Given the description of an element on the screen output the (x, y) to click on. 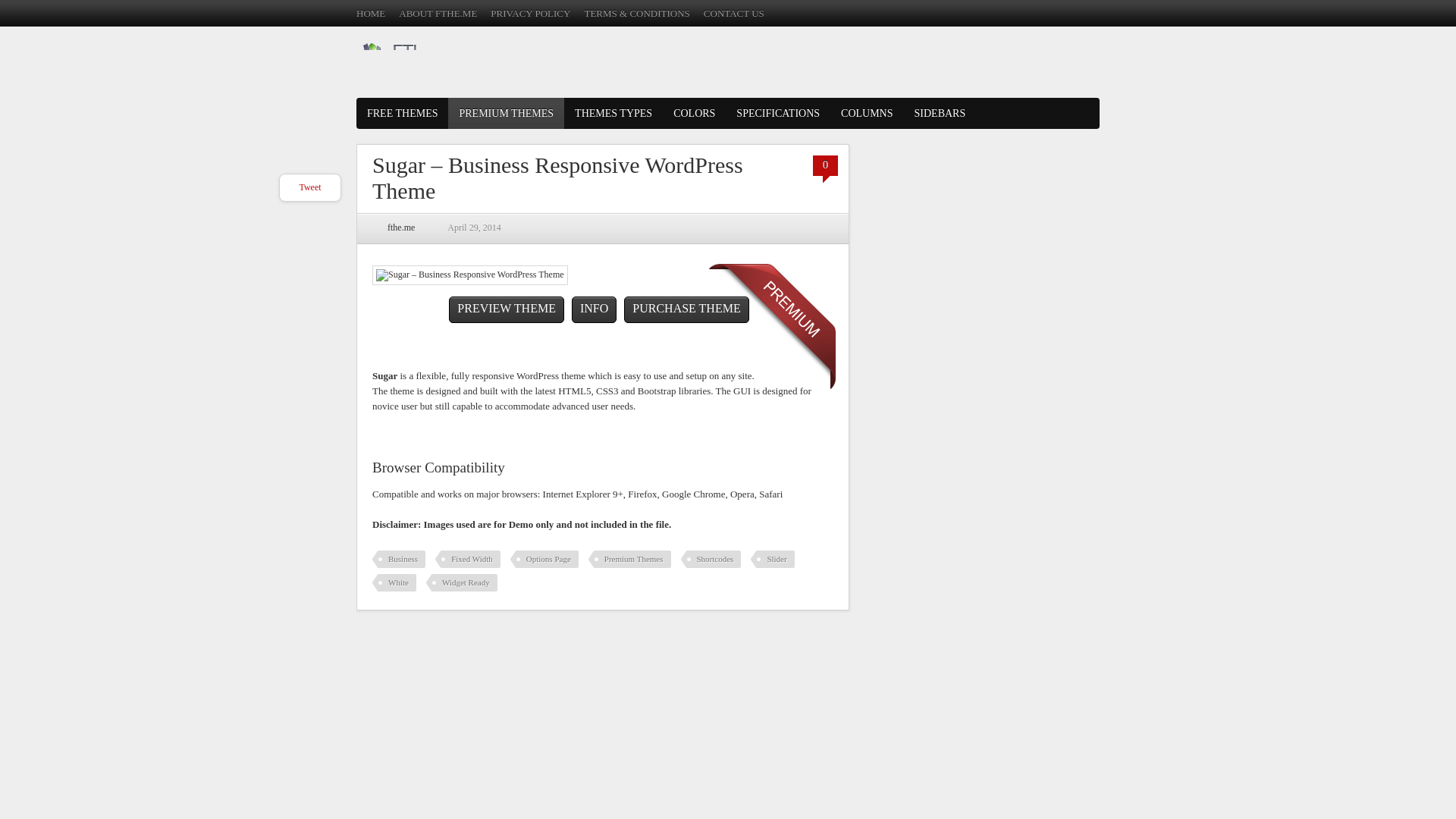
PRIVACY POLICY (530, 12)
ABOUT FTHE.ME (437, 12)
HOME (370, 12)
PREMIUM THEMES (506, 112)
SPECIFICATIONS (777, 112)
CONTACT US (733, 12)
THEMES TYPES (613, 112)
FREE THEMES (402, 112)
COLORS (693, 112)
